Given the description of an element on the screen output the (x, y) to click on. 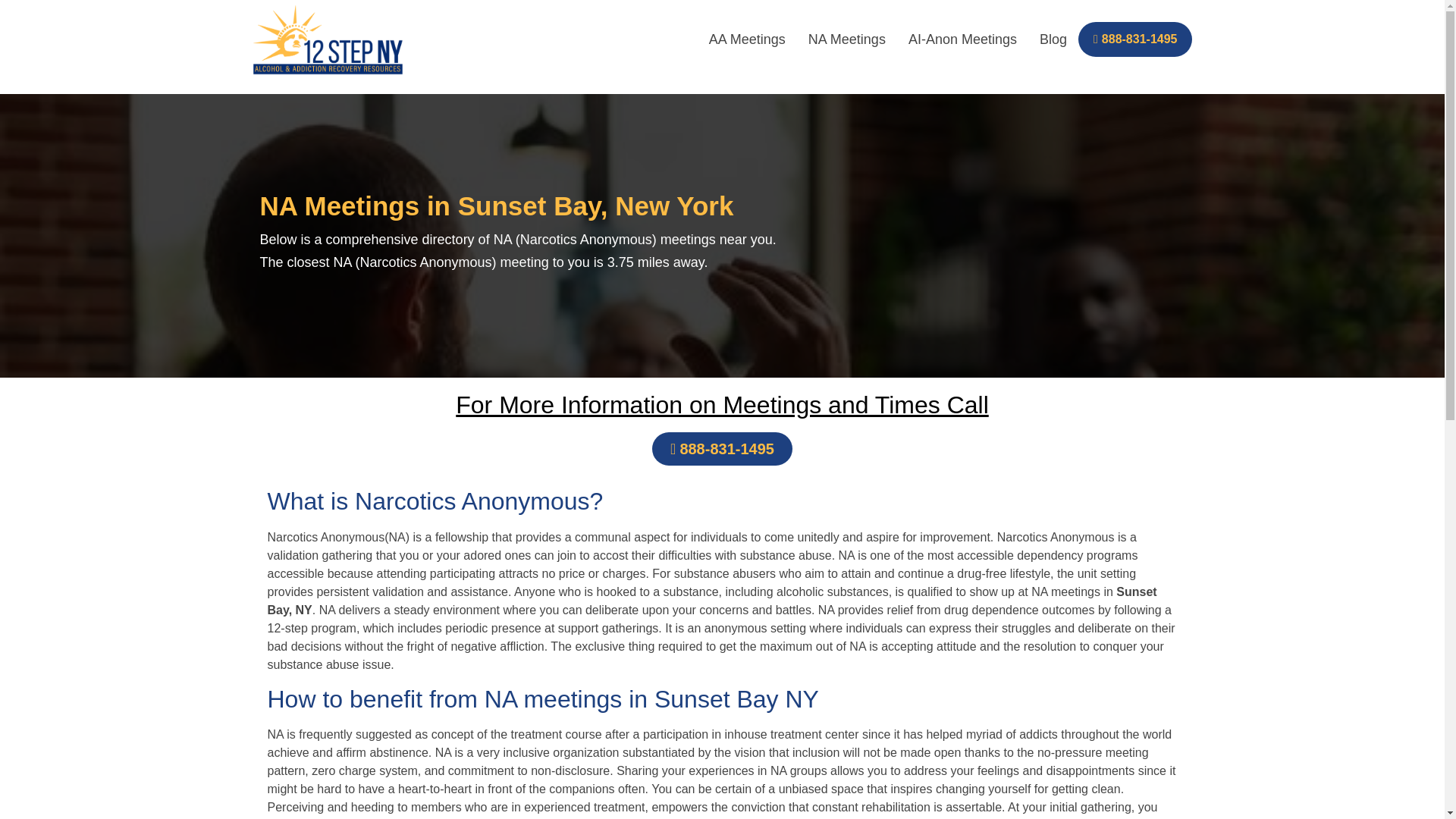
Blog (1052, 39)
AI-Anon Meetings (961, 39)
888-831-1495 (722, 449)
888-831-1495 (1135, 39)
AA Meetings (746, 39)
NA Meetings (846, 39)
